Given the description of an element on the screen output the (x, y) to click on. 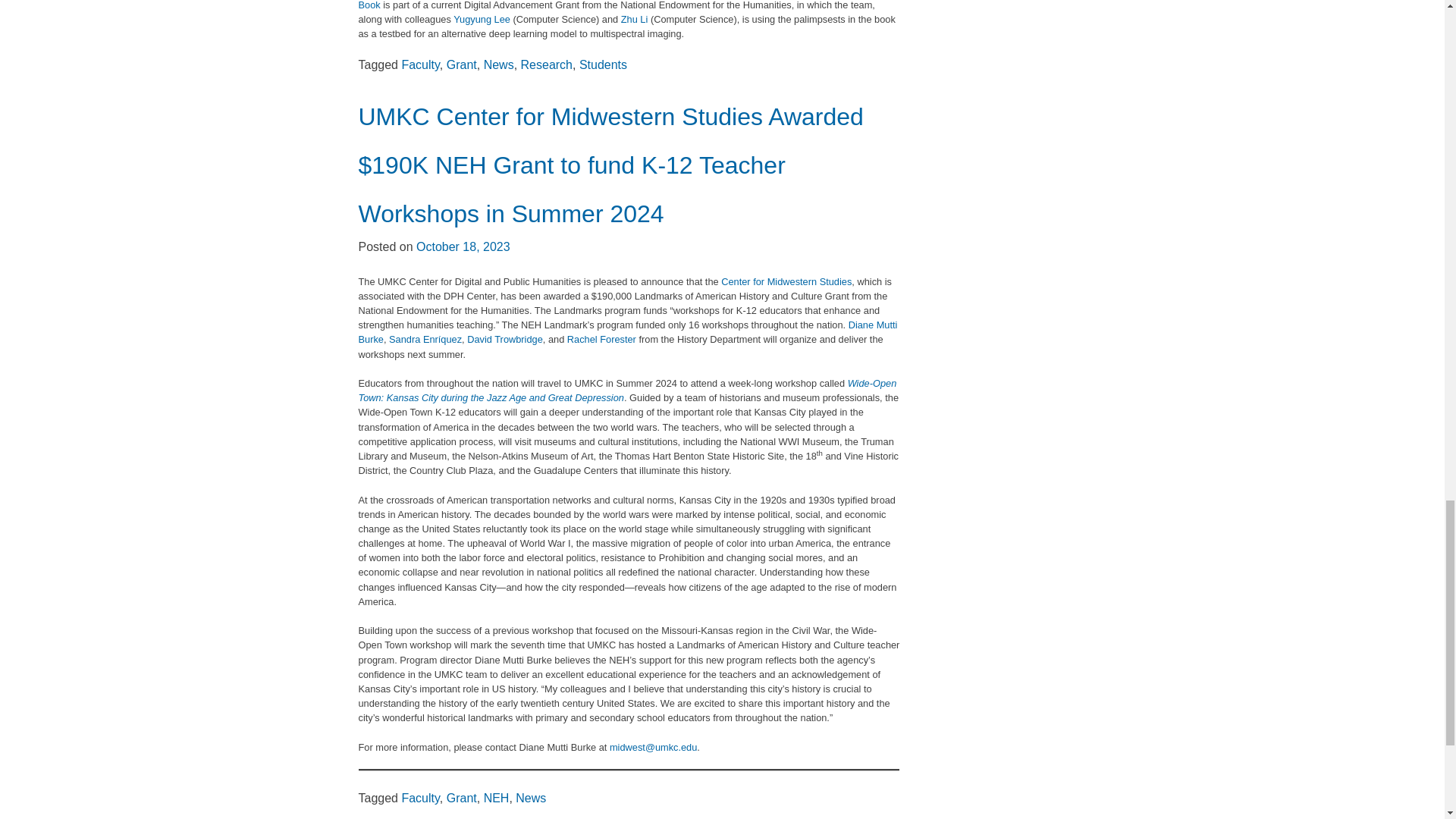
Adair Chant Book (623, 5)
News (498, 64)
Diane Mutti Burke (627, 331)
October 18, 2023 (463, 246)
Center for Midwestern Studies (785, 281)
Students (603, 64)
Research (546, 64)
Zhu Li (634, 19)
Grant (461, 64)
Faculty (420, 64)
